Given the description of an element on the screen output the (x, y) to click on. 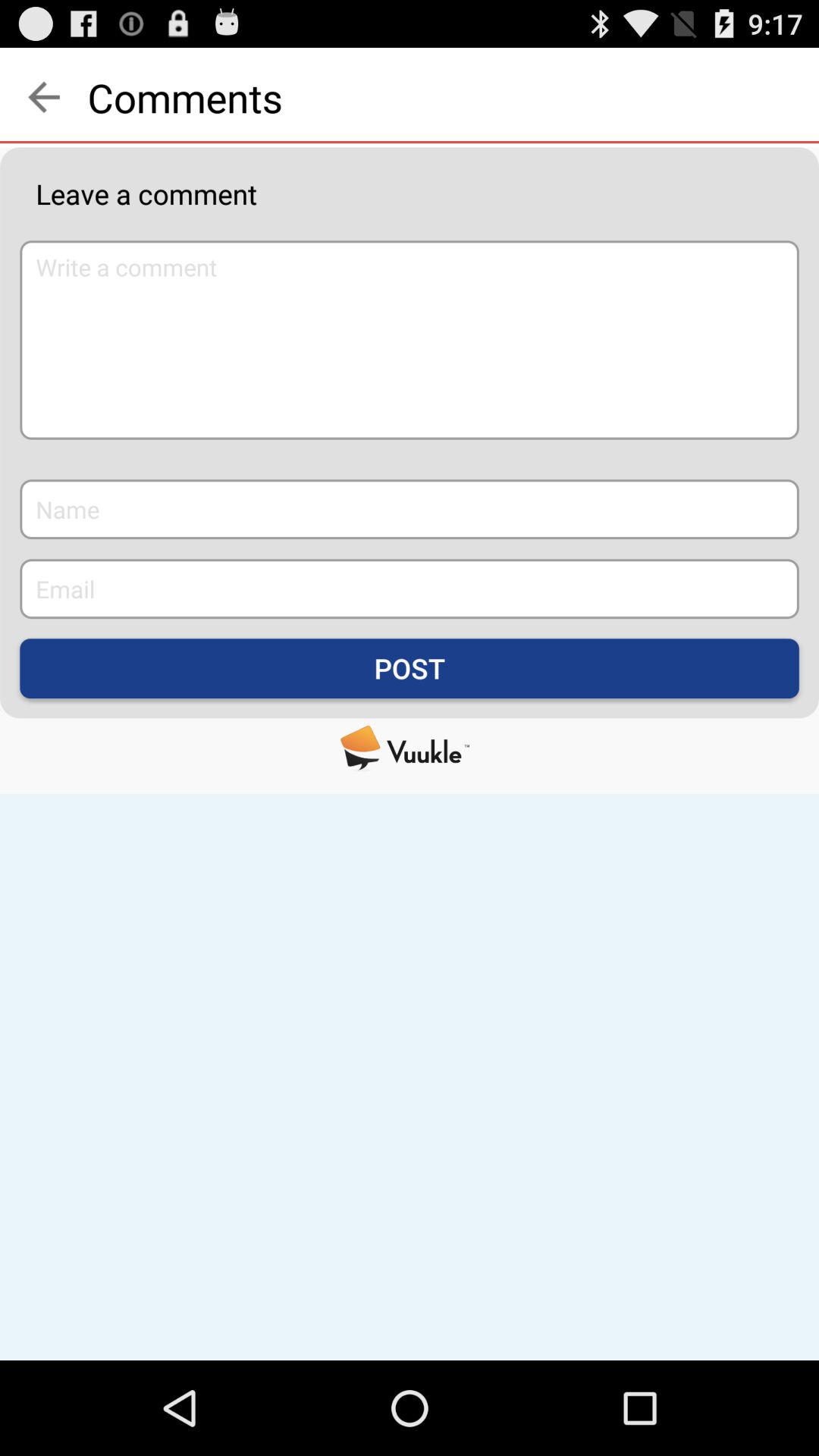
enter your name (409, 509)
